Given the description of an element on the screen output the (x, y) to click on. 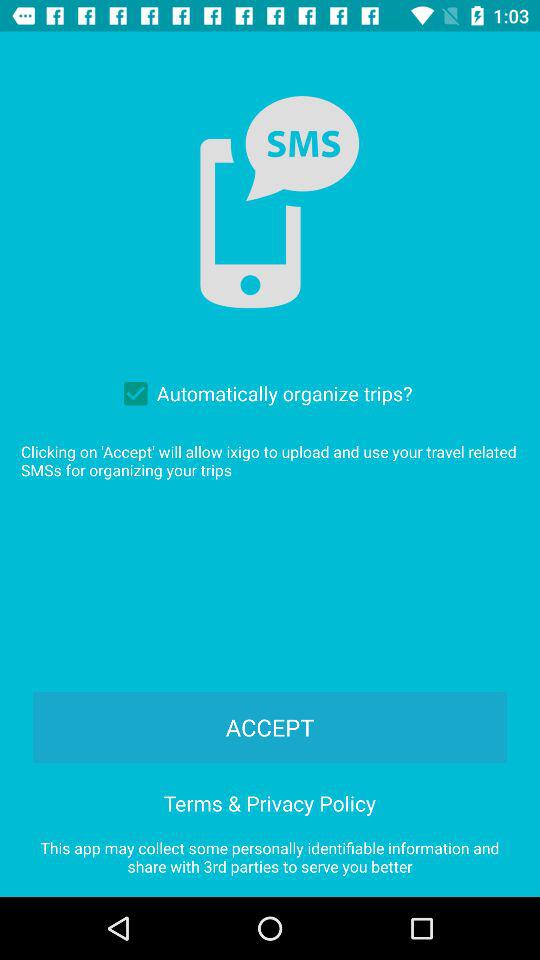
press the item above the this app may icon (270, 799)
